Given the description of an element on the screen output the (x, y) to click on. 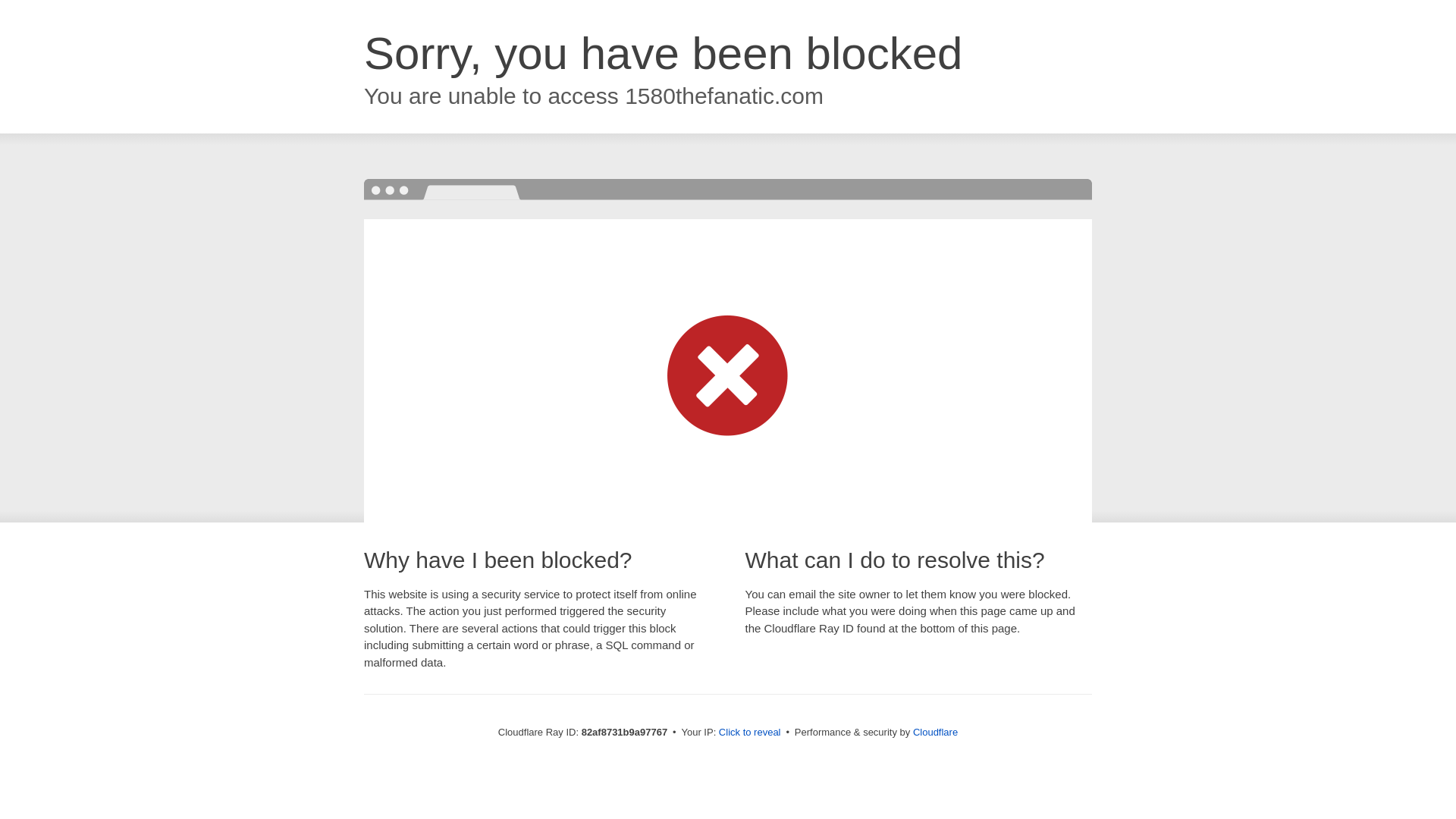
Click to reveal Element type: text (749, 732)
Cloudflare Element type: text (935, 731)
